Given the description of an element on the screen output the (x, y) to click on. 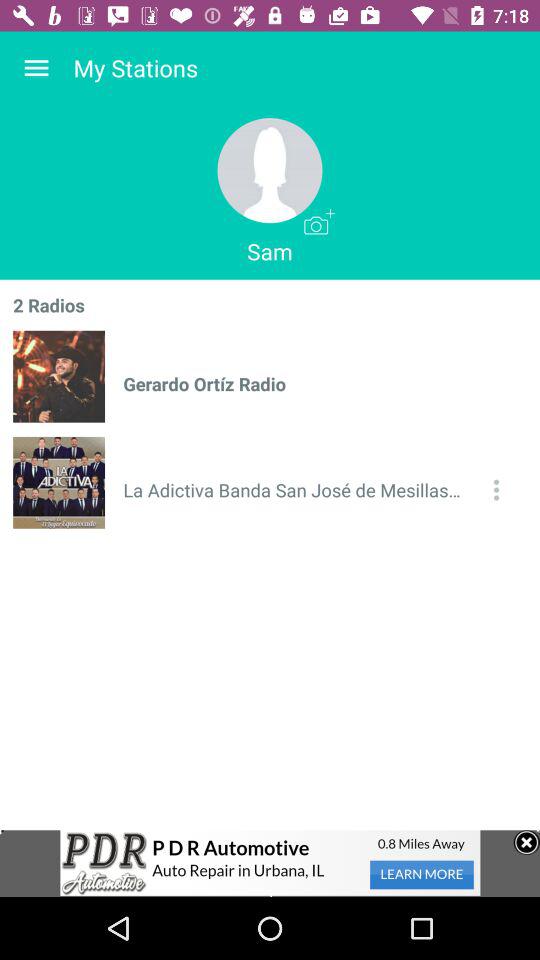
open the item to the left of my stations (36, 68)
